Given the description of an element on the screen output the (x, y) to click on. 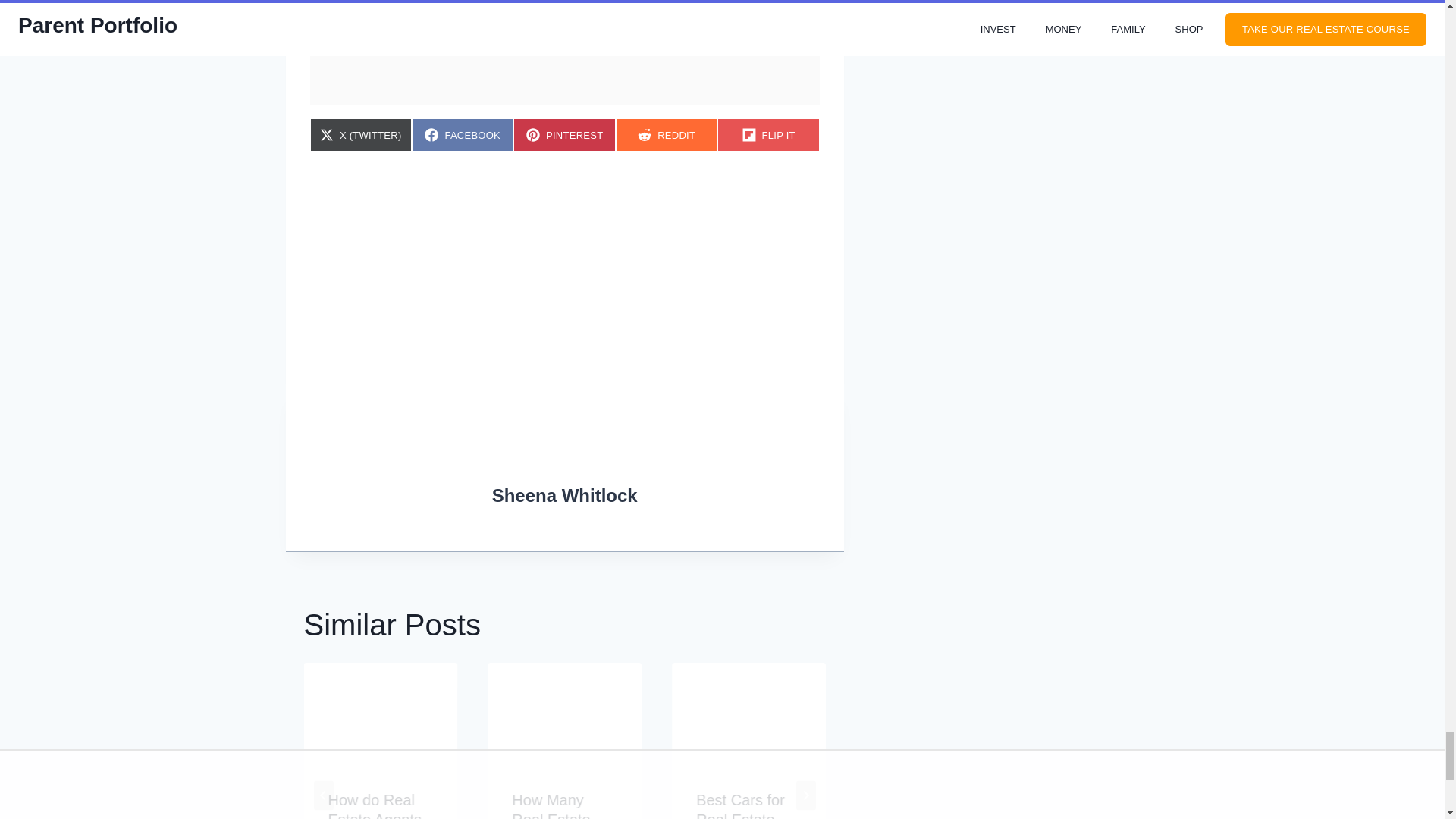
Sheena Whitlock (563, 134)
Posts by Sheena Whitlock (666, 134)
